Given the description of an element on the screen output the (x, y) to click on. 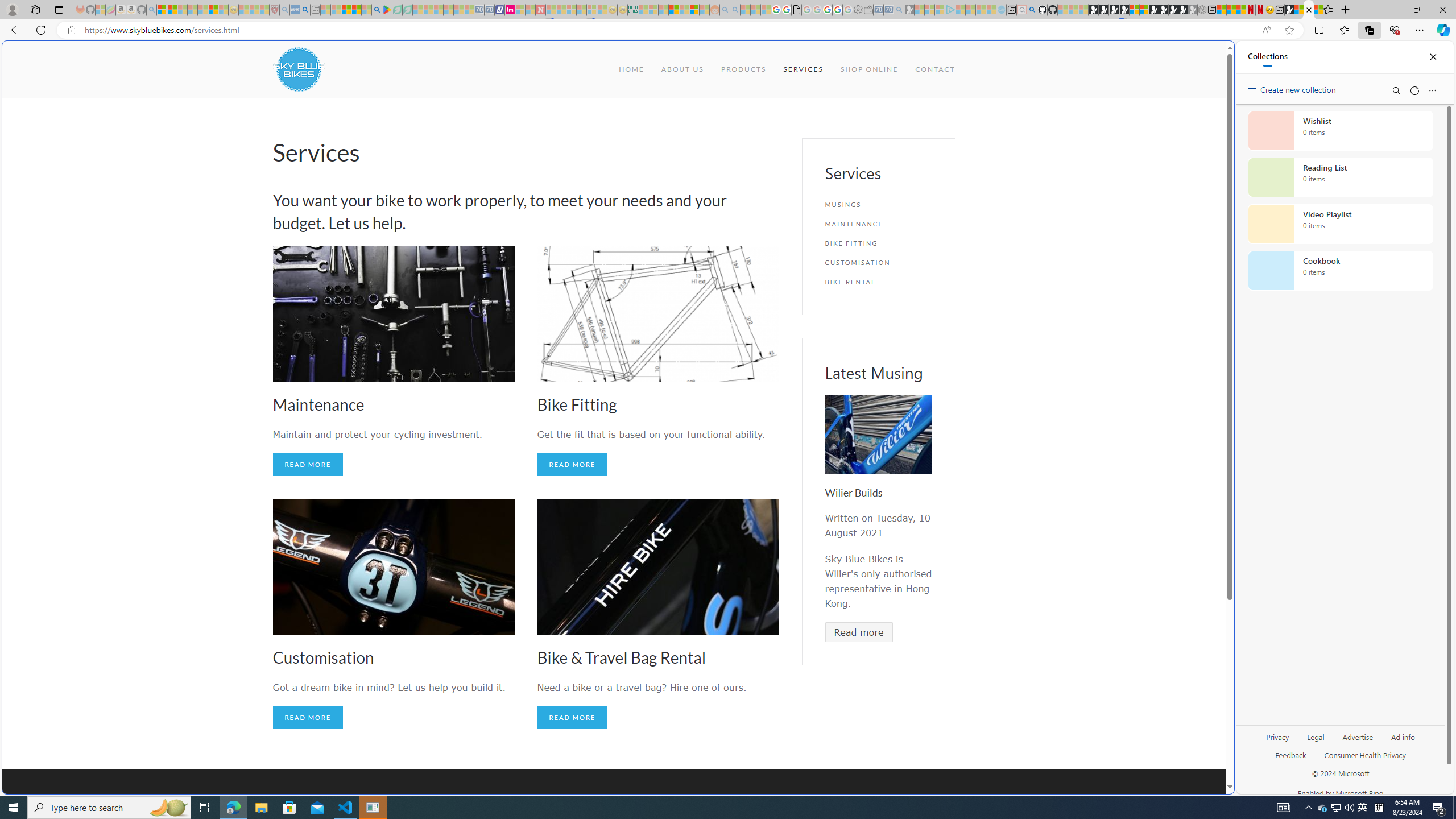
Wilier Builds (877, 434)
Frequently visited (965, 151)
Cookbook collection, 0 items (1339, 270)
ABOUT US (681, 68)
More options menu (1432, 90)
SERVICES (802, 68)
